Given the description of an element on the screen output the (x, y) to click on. 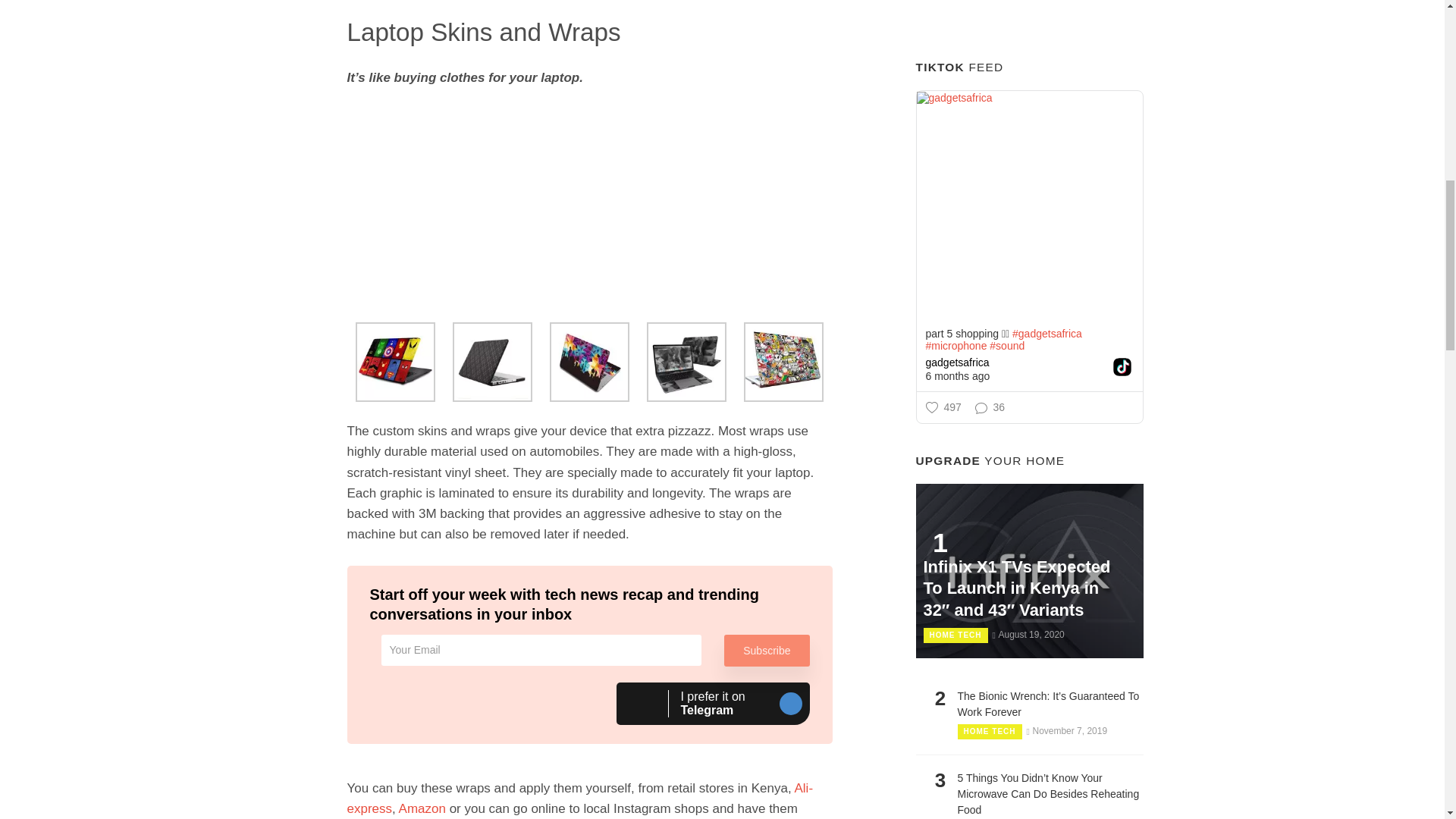
Advertisement (1028, 22)
November 7, 2019 at 12:00 pm (1067, 730)
August 19, 2020 at 7:52 pm (1027, 634)
